Given the description of an element on the screen output the (x, y) to click on. 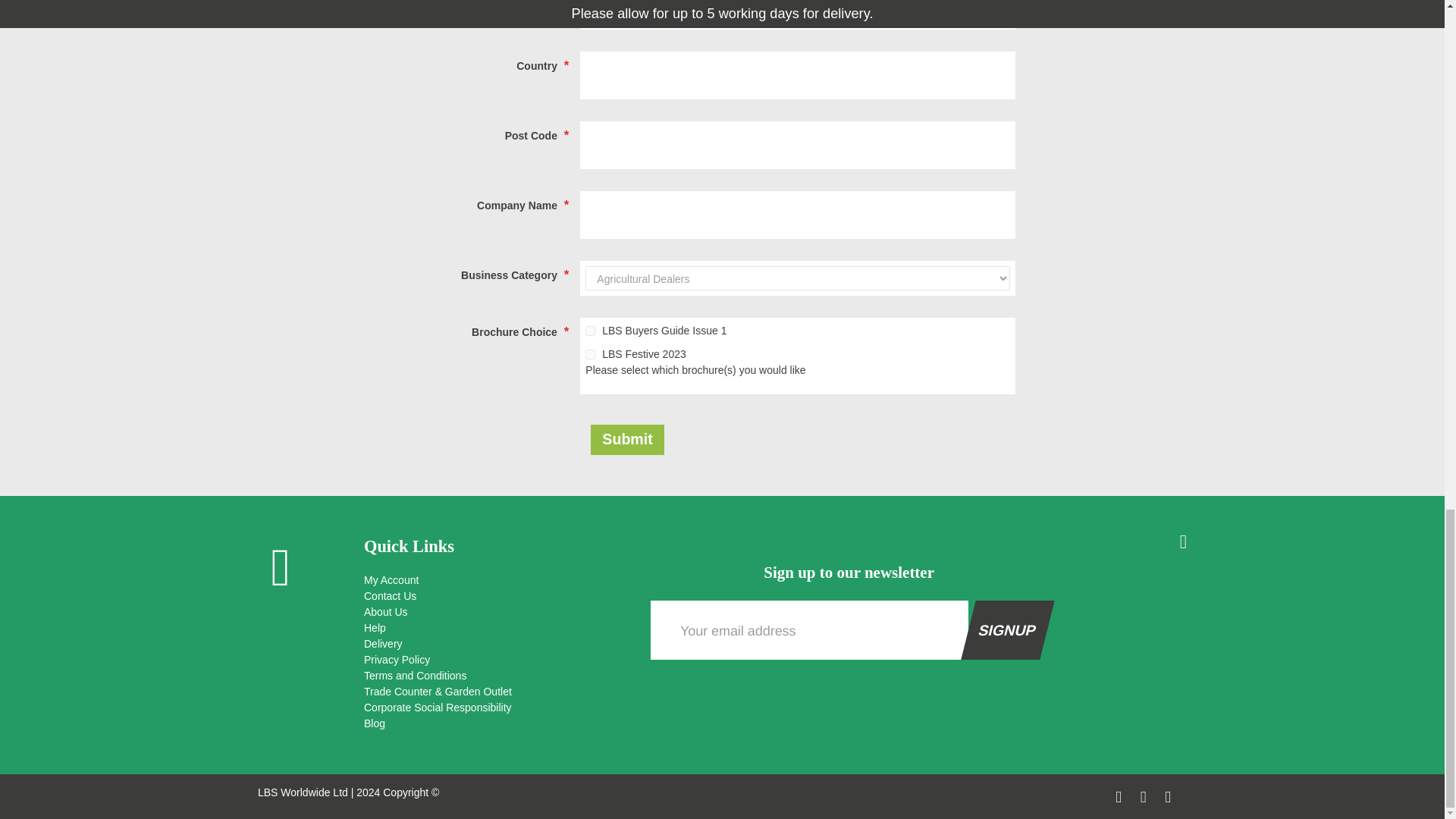
Submit (627, 439)
Privacy policy and Cookie information (496, 659)
Corporate Social Responsibility (496, 707)
LBS Festive 2023 (590, 354)
Sign Up (1000, 630)
Trade Counter and Garden Outlet (496, 691)
Terms and Conditions (496, 675)
Contact Us (496, 596)
Help (496, 627)
Blog (496, 723)
LBS Buyers Guide Issue 1 (590, 330)
My Account (496, 580)
About (496, 611)
Delivery (496, 643)
